Given the description of an element on the screen output the (x, y) to click on. 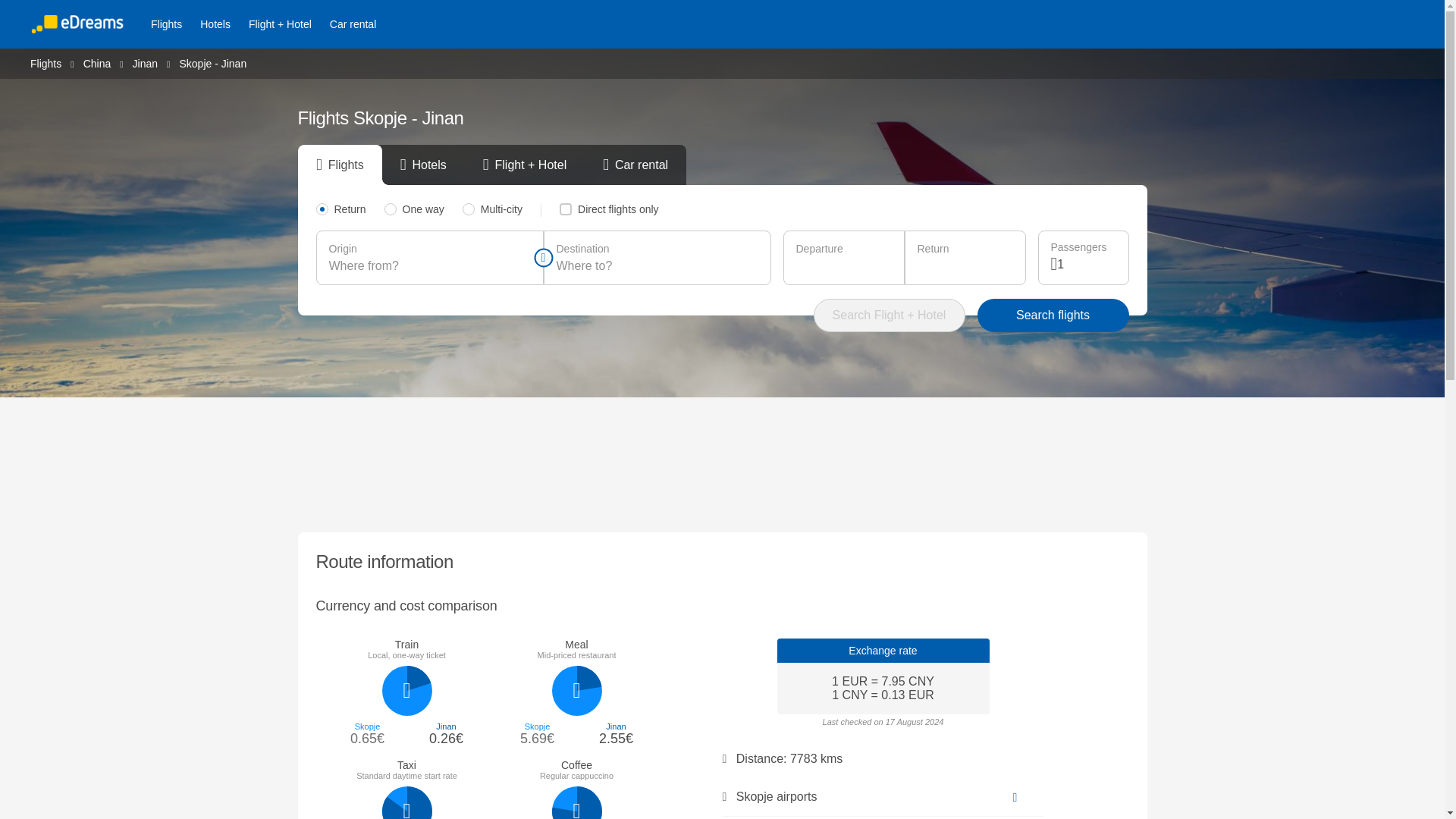
Skopje - Jinan (212, 63)
3rd party ad content (722, 461)
Hotels (215, 24)
1 (1086, 263)
Car rental (352, 24)
Jinan (144, 62)
Search flights (1052, 315)
Flights (45, 62)
China (97, 62)
Flights (165, 24)
